Given the description of an element on the screen output the (x, y) to click on. 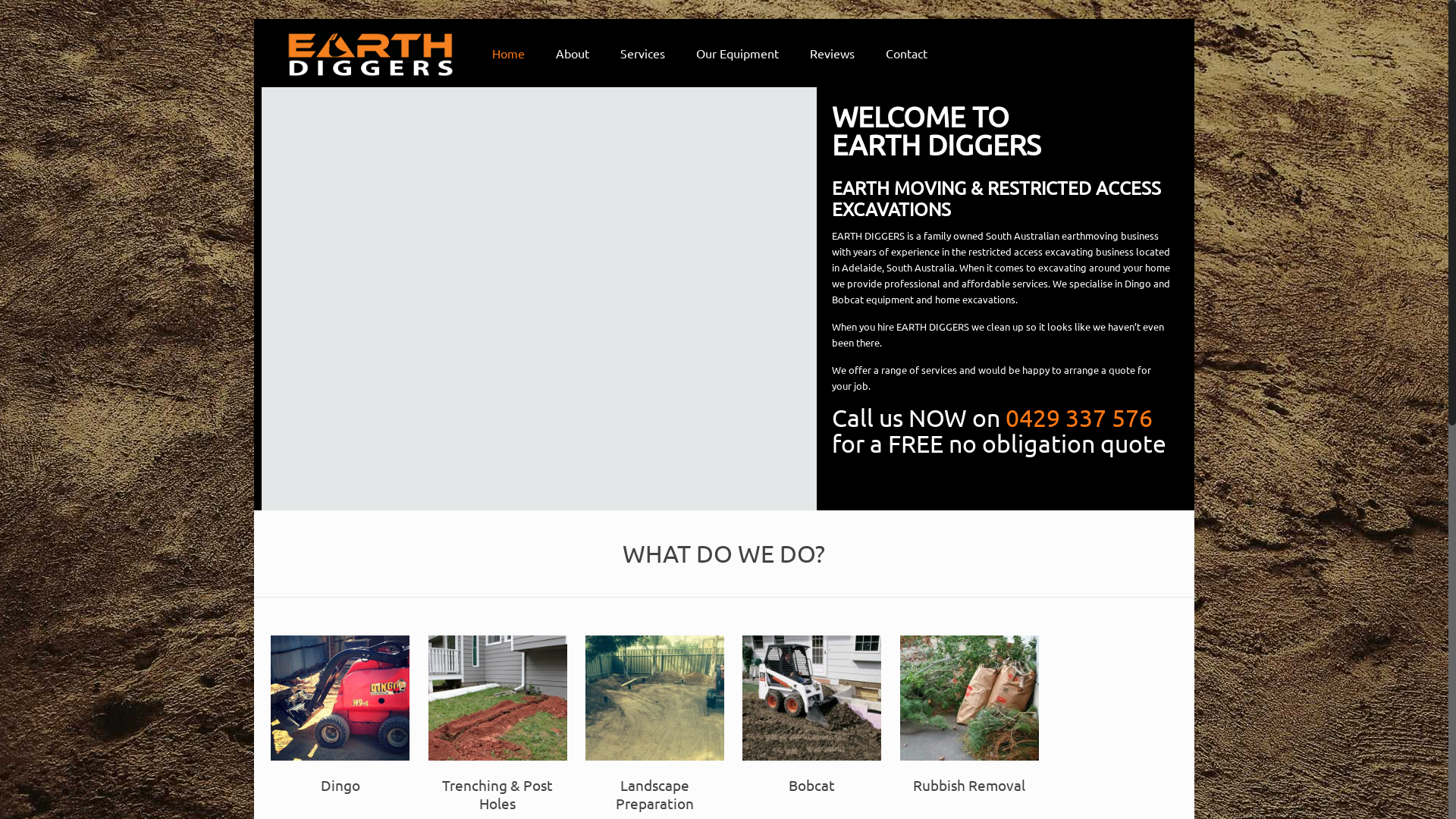
Services Element type: text (642, 52)
Earth Diggers Element type: hover (369, 52)
Dingo Element type: text (339, 714)
Rubbish Removal Element type: text (969, 714)
Landscape Preparation Element type: text (654, 723)
Our Equipment Element type: text (737, 52)
Reviews Element type: text (832, 52)
Trenching & Post Holes Element type: text (497, 723)
Home Element type: text (508, 52)
Bobcat Element type: text (811, 714)
About Element type: text (572, 52)
Contact Element type: text (906, 52)
